Given the description of an element on the screen output the (x, y) to click on. 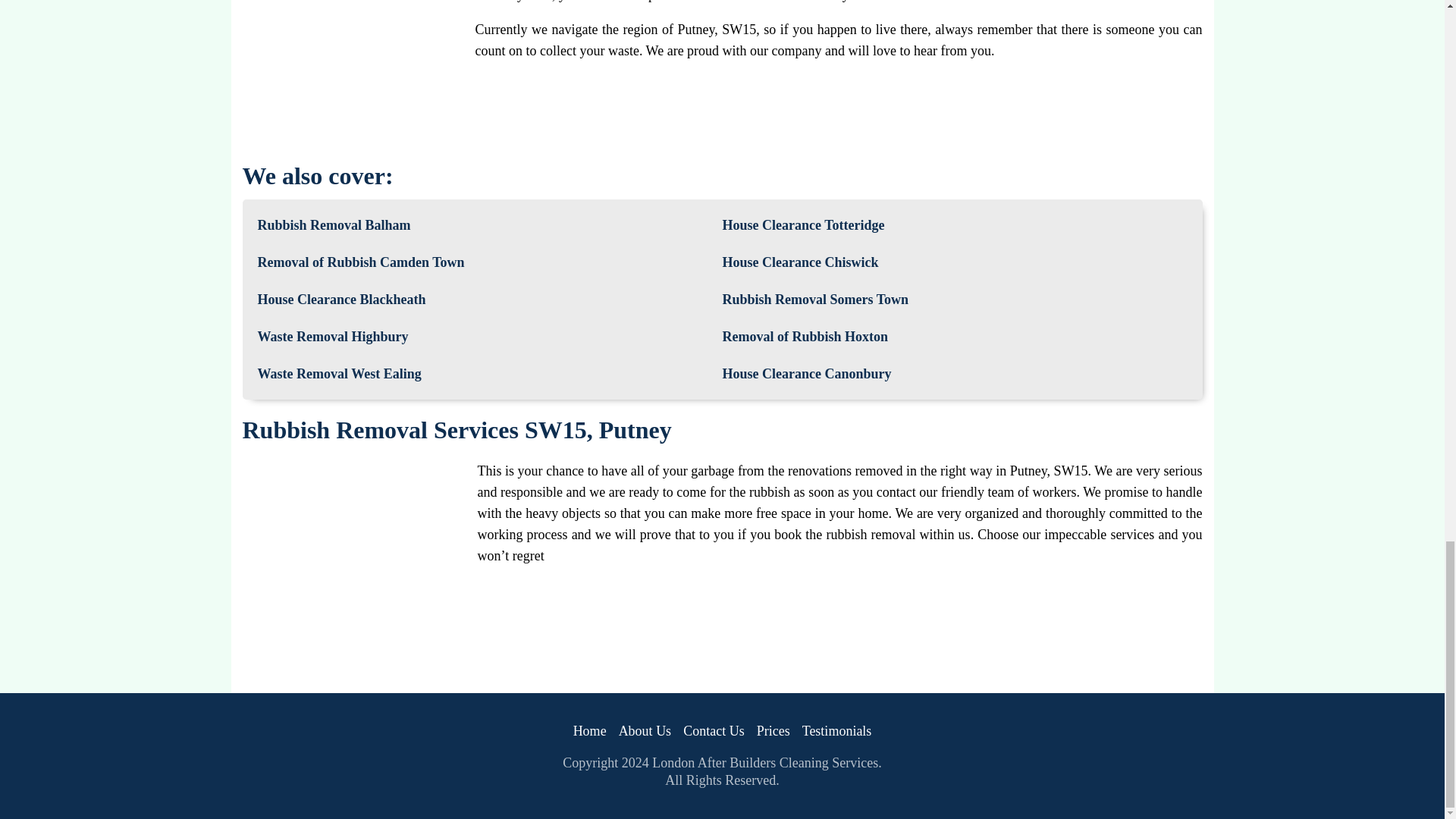
Home (589, 731)
NW1 Removal of Rubbish Camden Town (360, 262)
Waste Removal West Ealing (339, 373)
Rubbish Removal Somers Town (815, 300)
N5 Waste Removal Highbury (333, 336)
House Clearance Chiswick (799, 262)
N1 House Clearance Canonbury (806, 373)
Waste Removal Highbury (333, 336)
House Clearance Canonbury (806, 373)
W13 Waste Removal West Ealing (339, 373)
